Given the description of an element on the screen output the (x, y) to click on. 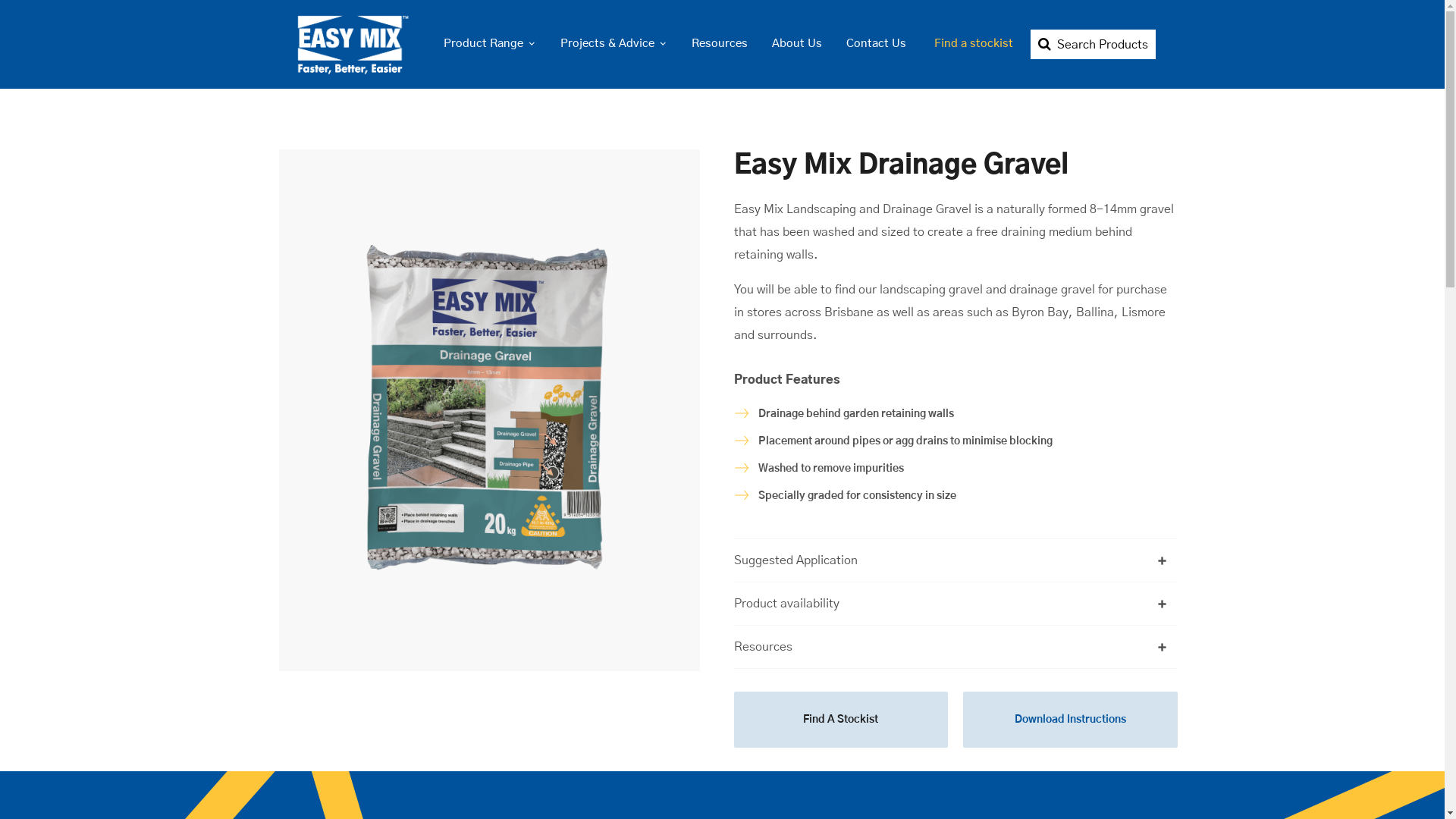
About Us Element type: text (796, 43)
Search Products Element type: text (1092, 44)
Download Instructions Element type: text (1070, 719)
Contact Us Element type: text (875, 43)
Resources Element type: text (719, 43)
Find a stockist Element type: text (972, 43)
Find A Stockist Element type: text (841, 719)
Projects & Advice Element type: text (613, 43)
Product Range Element type: text (488, 43)
